Given the description of an element on the screen output the (x, y) to click on. 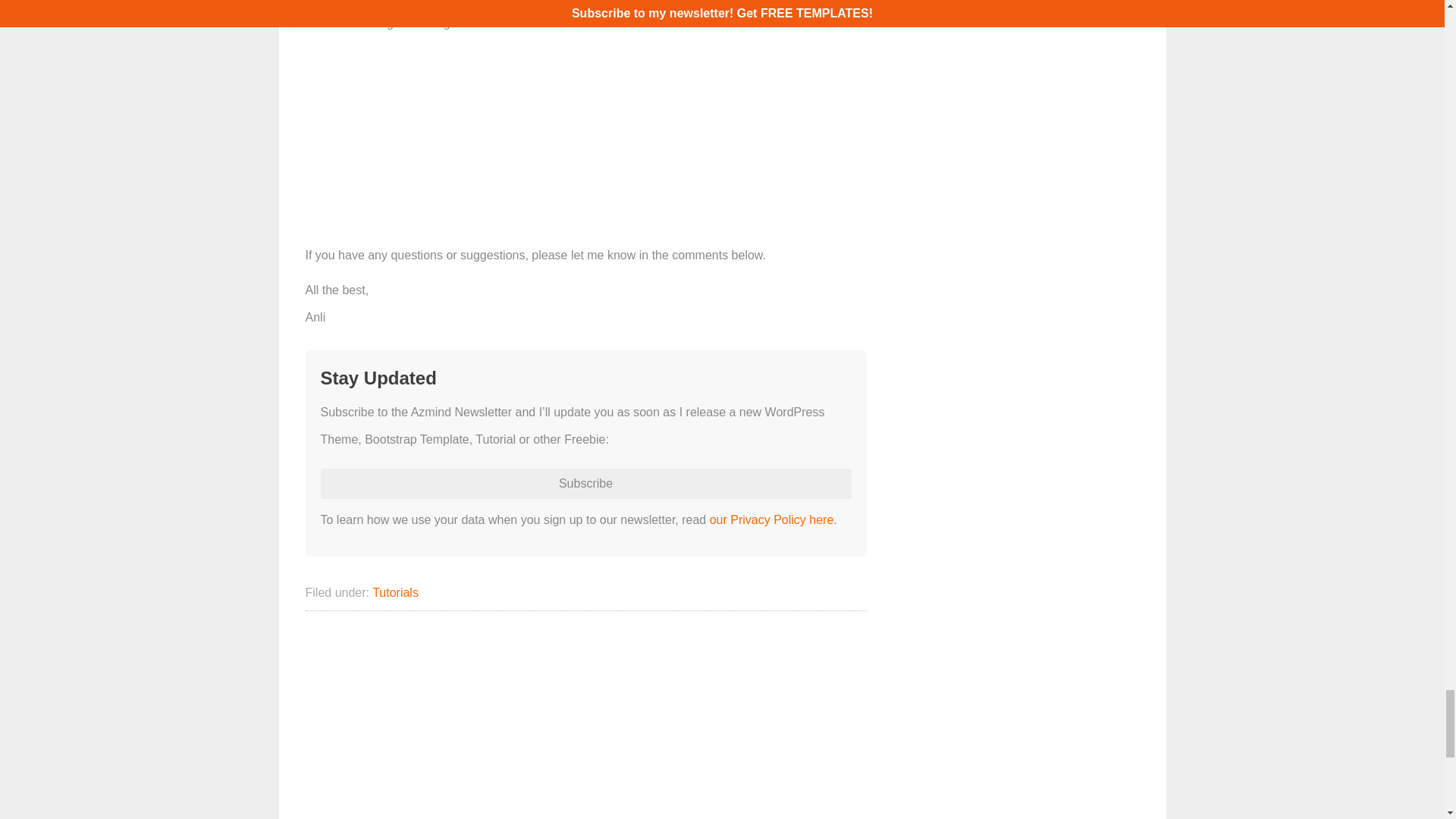
Subscribe (585, 483)
